Given the description of an element on the screen output the (x, y) to click on. 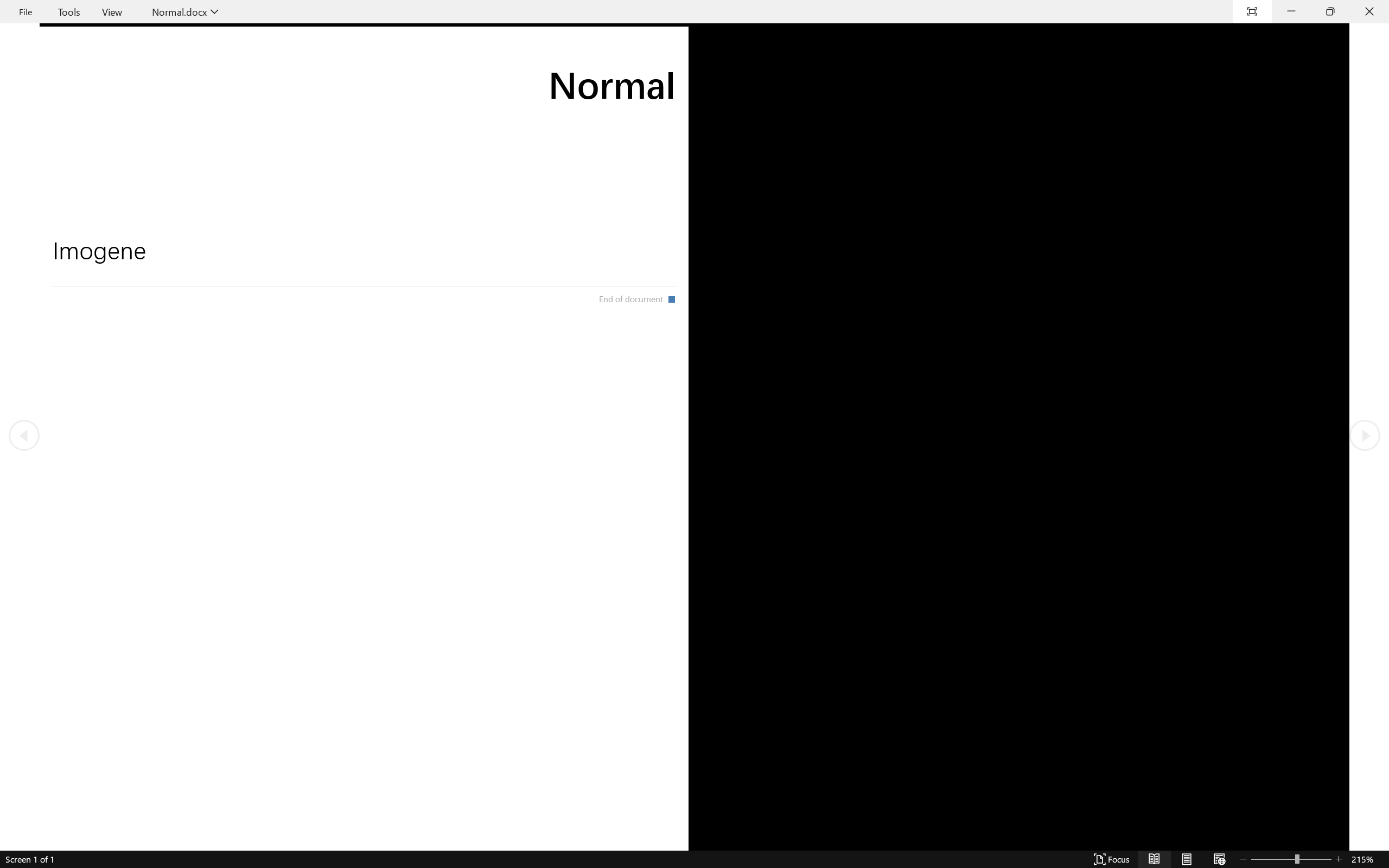
Character Spacing (242, 71)
Center (346, 71)
Increase Indent (393, 52)
Select (727, 74)
Activate (459, 105)
Shape Outline Dark Red, Accent 1 (644, 60)
Left Brace (562, 72)
Arrow: Down (572, 60)
Shape Effects (668, 74)
